Given the description of an element on the screen output the (x, y) to click on. 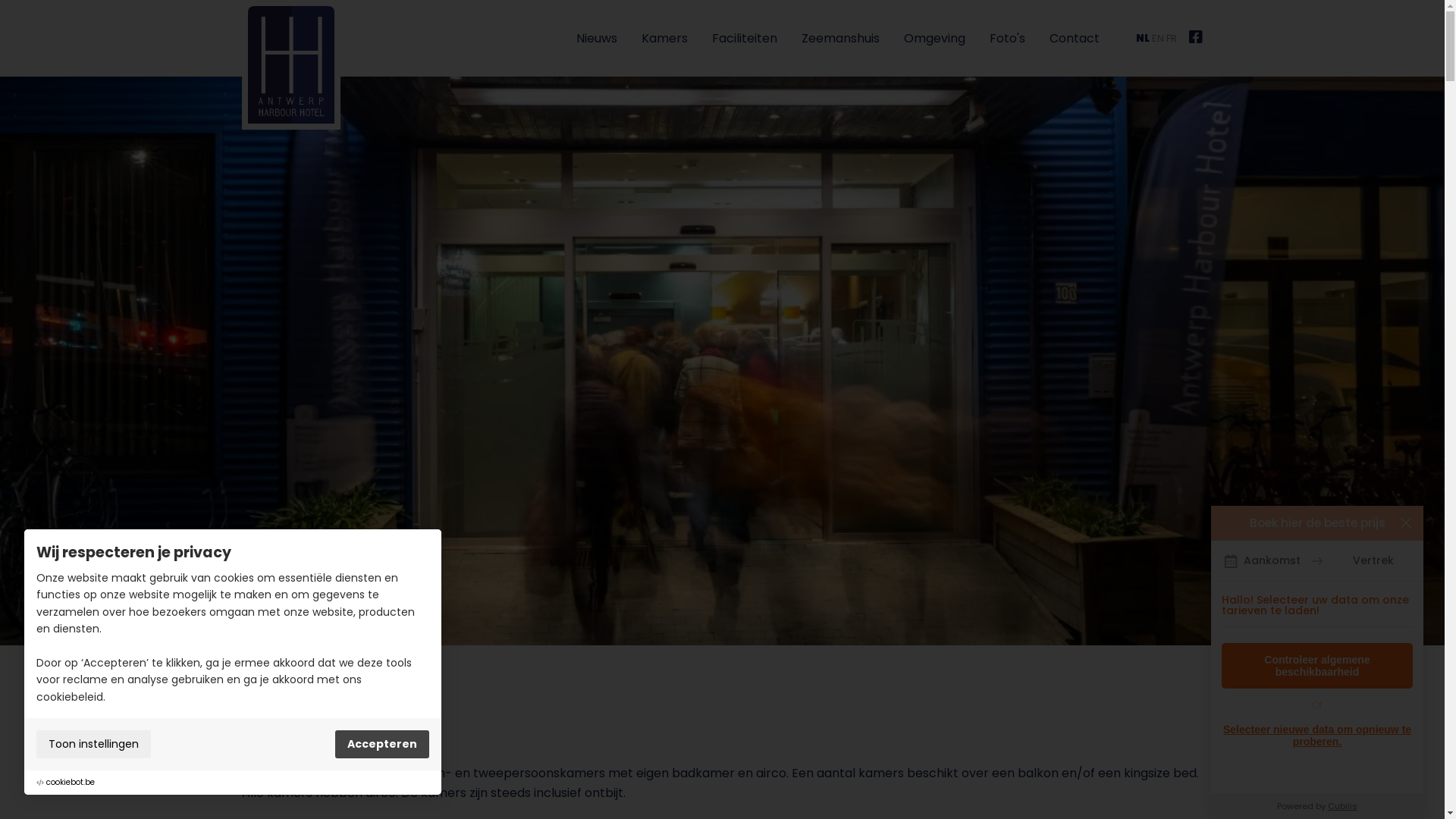
Zeemanshuis Element type: text (840, 38)
cookiebot.be Element type: text (70, 782)
NL Element type: text (1142, 37)
Contact Element type: text (1074, 38)
Facebook Element type: hover (1195, 38)
Omgeving Element type: text (934, 38)
Toon instellingen Element type: text (93, 744)
Nieuws Element type: text (596, 38)
Antwerp Harbour Hotel Element type: hover (290, 63)
Faciliteiten Element type: text (744, 38)
FR Element type: text (1171, 37)
Kamers Element type: text (664, 38)
EN Element type: text (1157, 37)
Controleer algemene beschikbaarheid Element type: text (1316, 665)
Accepteren Element type: text (382, 744)
Cubilis Element type: text (1342, 806)
Foto's Element type: text (1007, 38)
Selecteer nieuwe data om opnieuw te proberen. Element type: text (1316, 735)
